Given the description of an element on the screen output the (x, y) to click on. 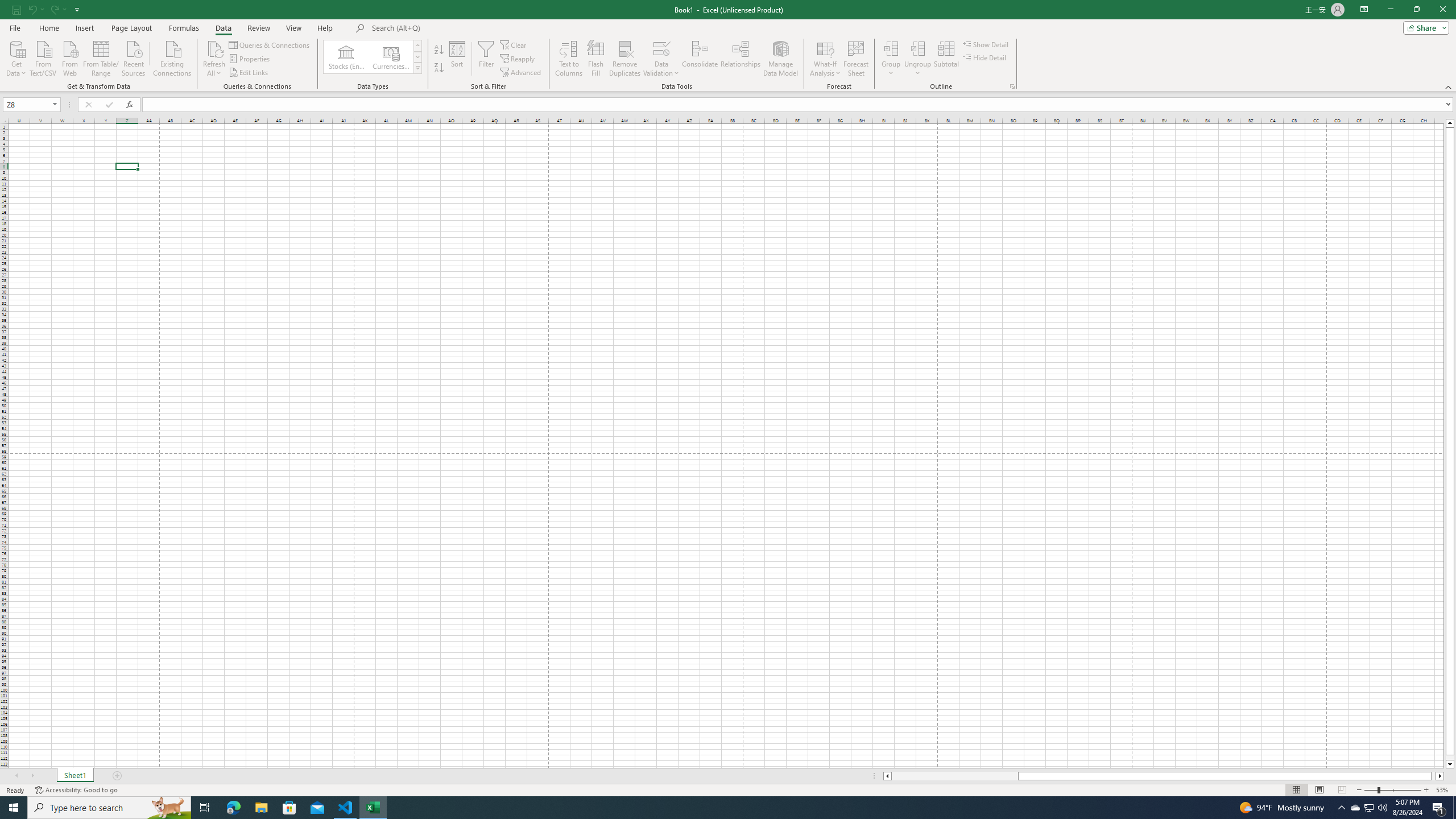
Currencies (English) (390, 56)
Flash Fill (595, 58)
Hide Detail (985, 56)
Sort Z to A (438, 67)
